Given the description of an element on the screen output the (x, y) to click on. 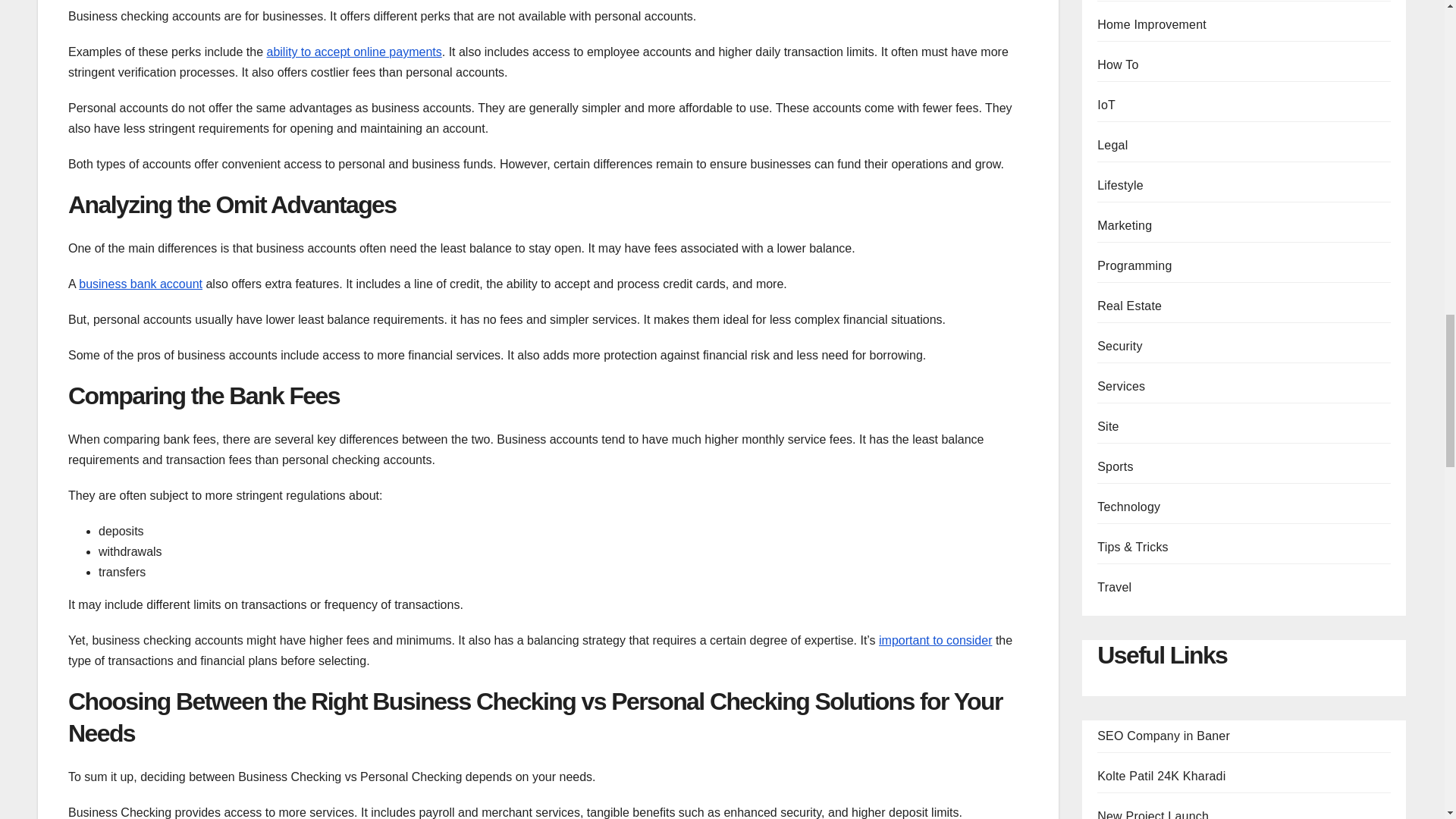
important to consider (935, 640)
business bank account (140, 283)
ability to accept online payments (353, 51)
